Given the description of an element on the screen output the (x, y) to click on. 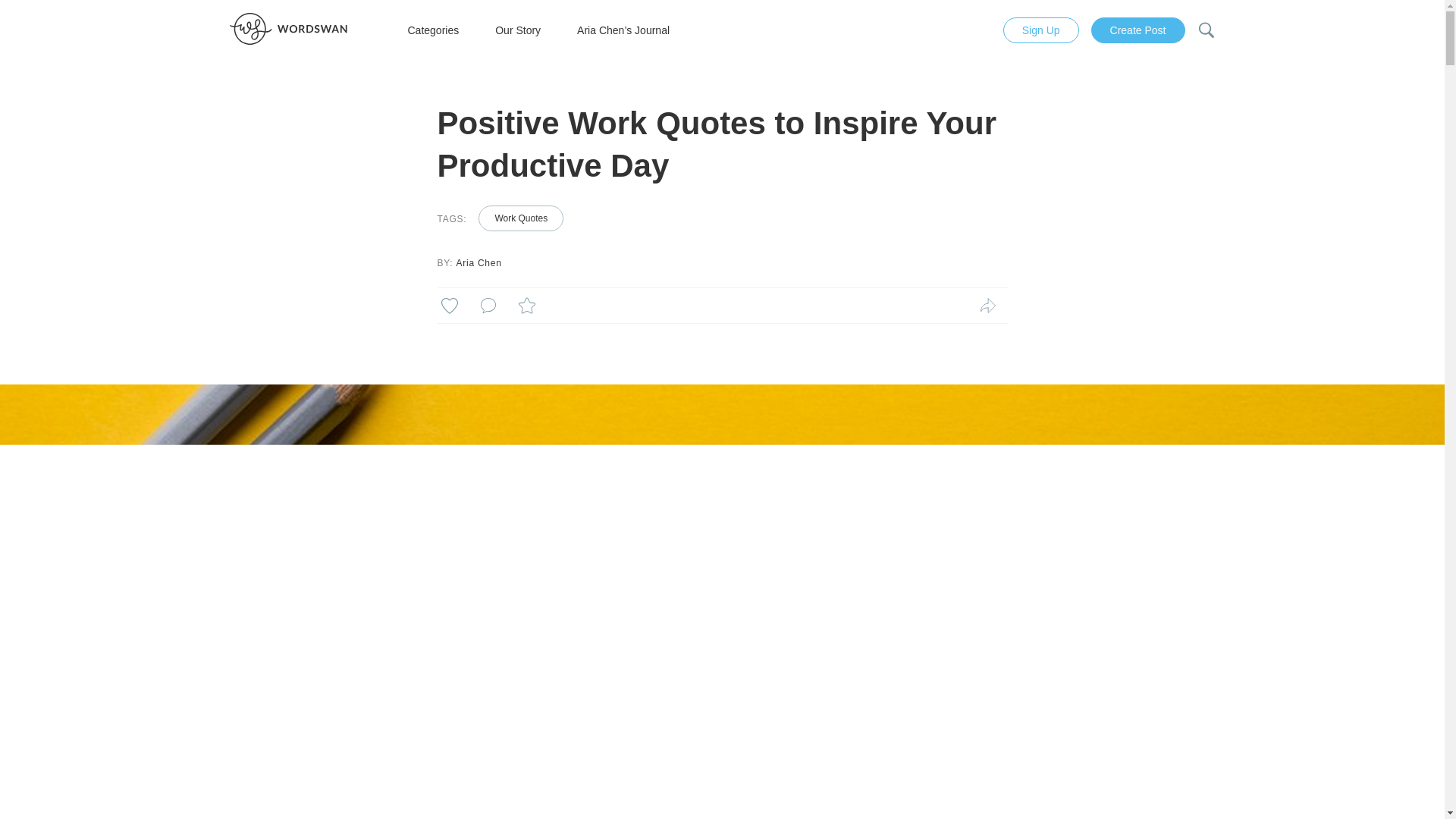
Sign Up (1040, 30)
Create Post (1137, 30)
Aria Chen (479, 263)
Work Quotes (521, 217)
Sign Up (1034, 29)
Our Story (517, 30)
Create Post (1131, 30)
